Given the description of an element on the screen output the (x, y) to click on. 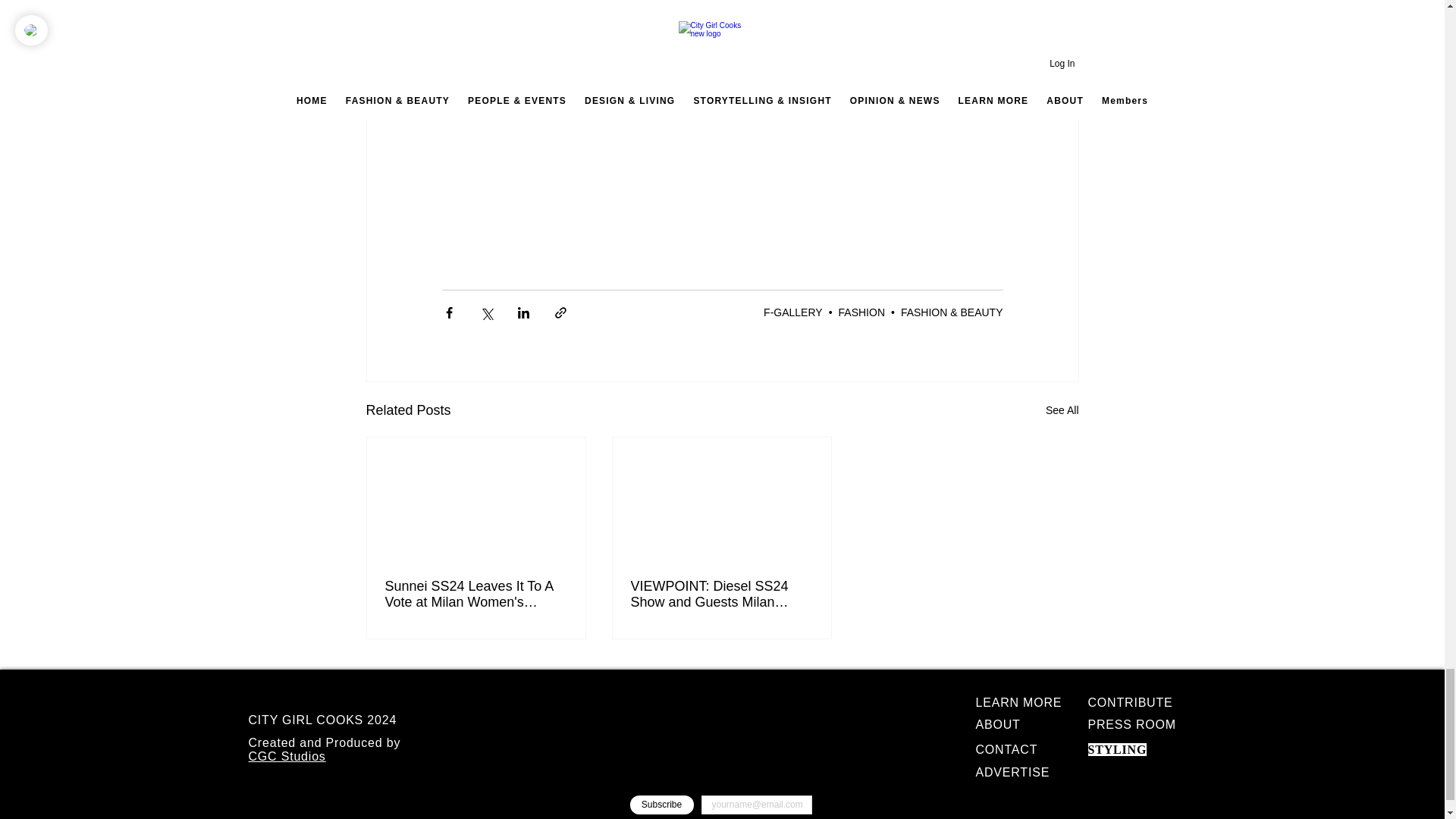
See All (1061, 410)
CGC Studios (287, 756)
FASHION (861, 312)
F-GALLERY (792, 312)
